Given the description of an element on the screen output the (x, y) to click on. 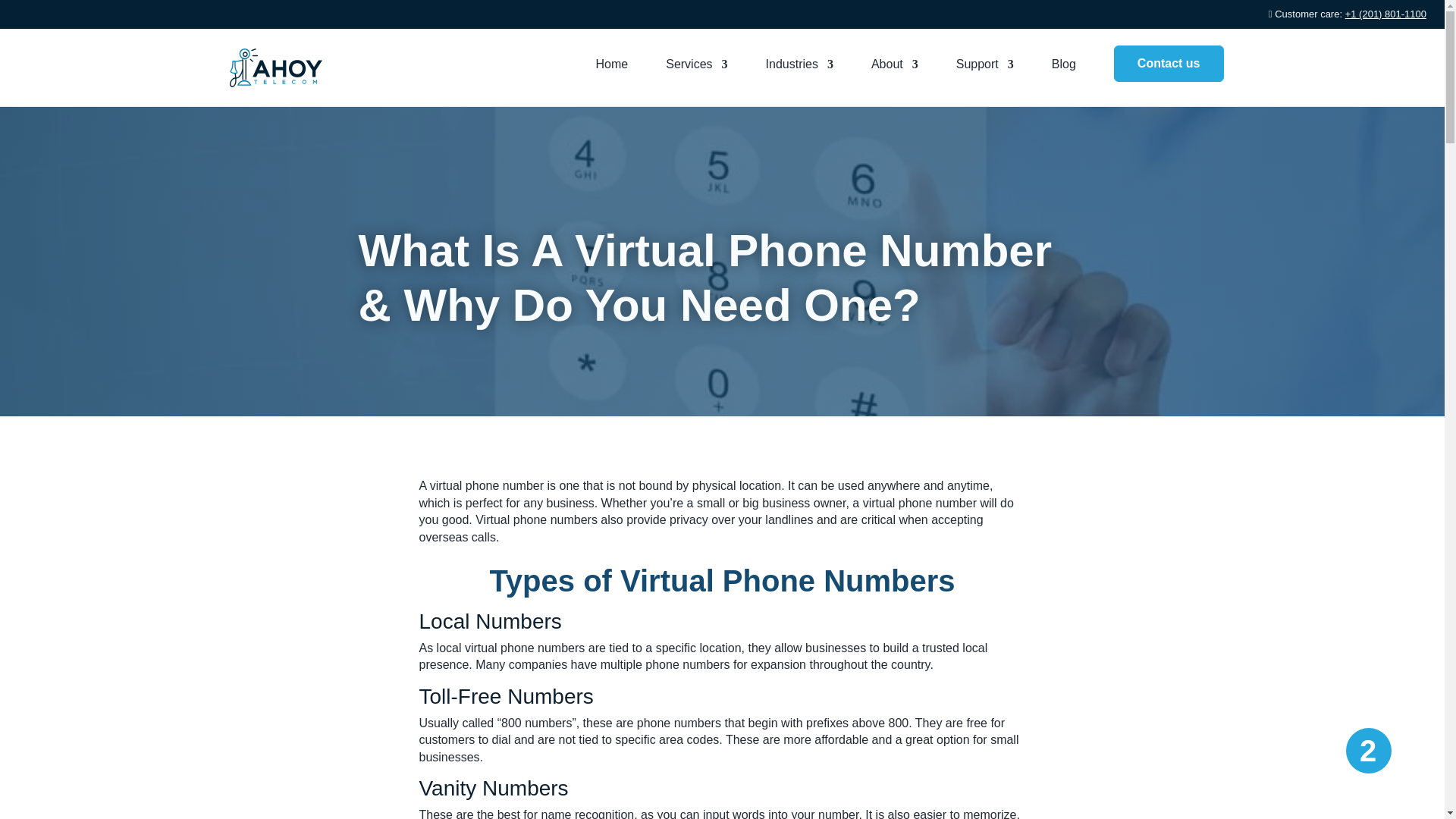
Support (984, 69)
Home (611, 69)
Blog (1063, 69)
ahoy telecom logo (274, 67)
Services (695, 69)
Industries (798, 69)
About (894, 69)
